Given the description of an element on the screen output the (x, y) to click on. 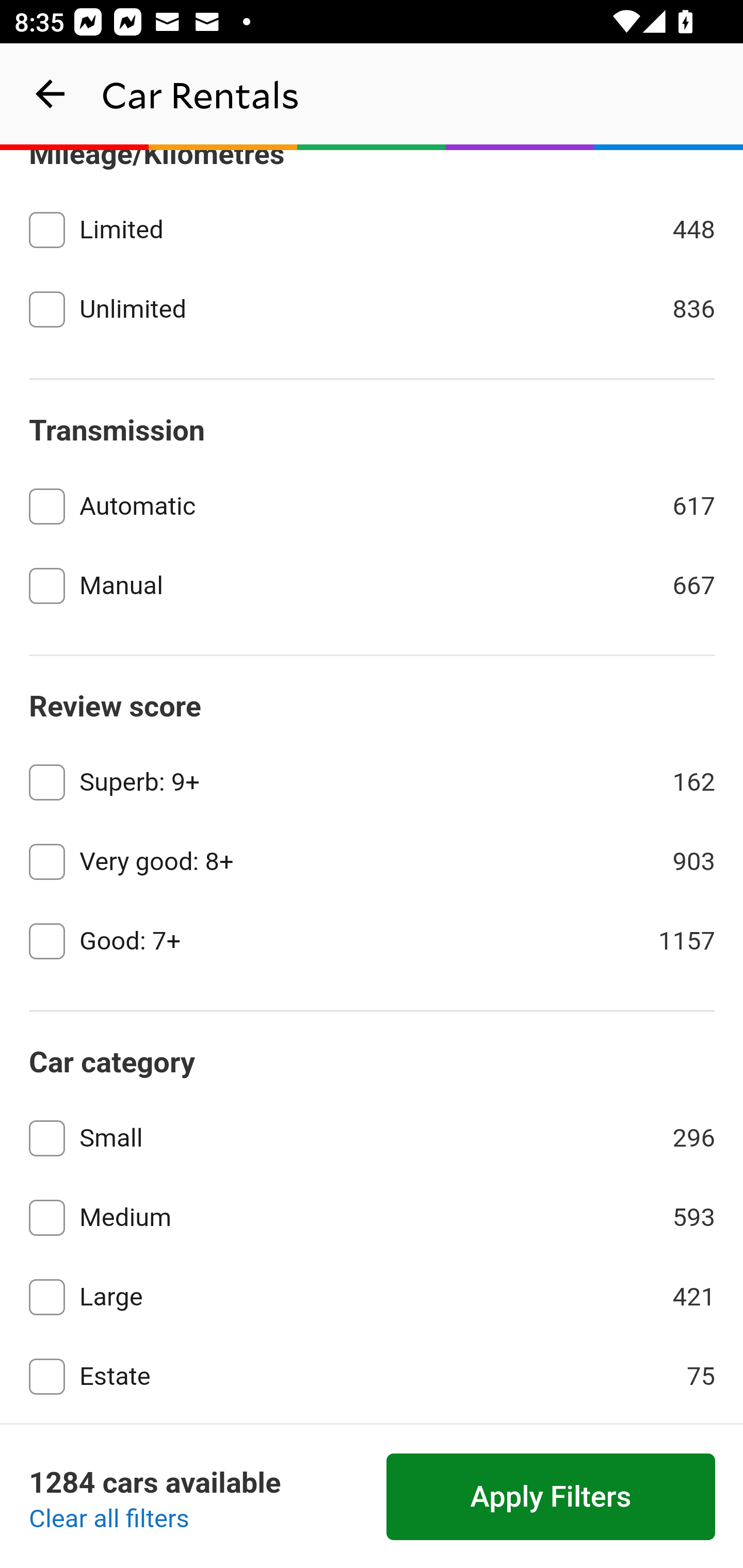
navigation_button (50, 93)
Apply Filters (551, 1497)
Clear all filters (108, 1519)
